Given the description of an element on the screen output the (x, y) to click on. 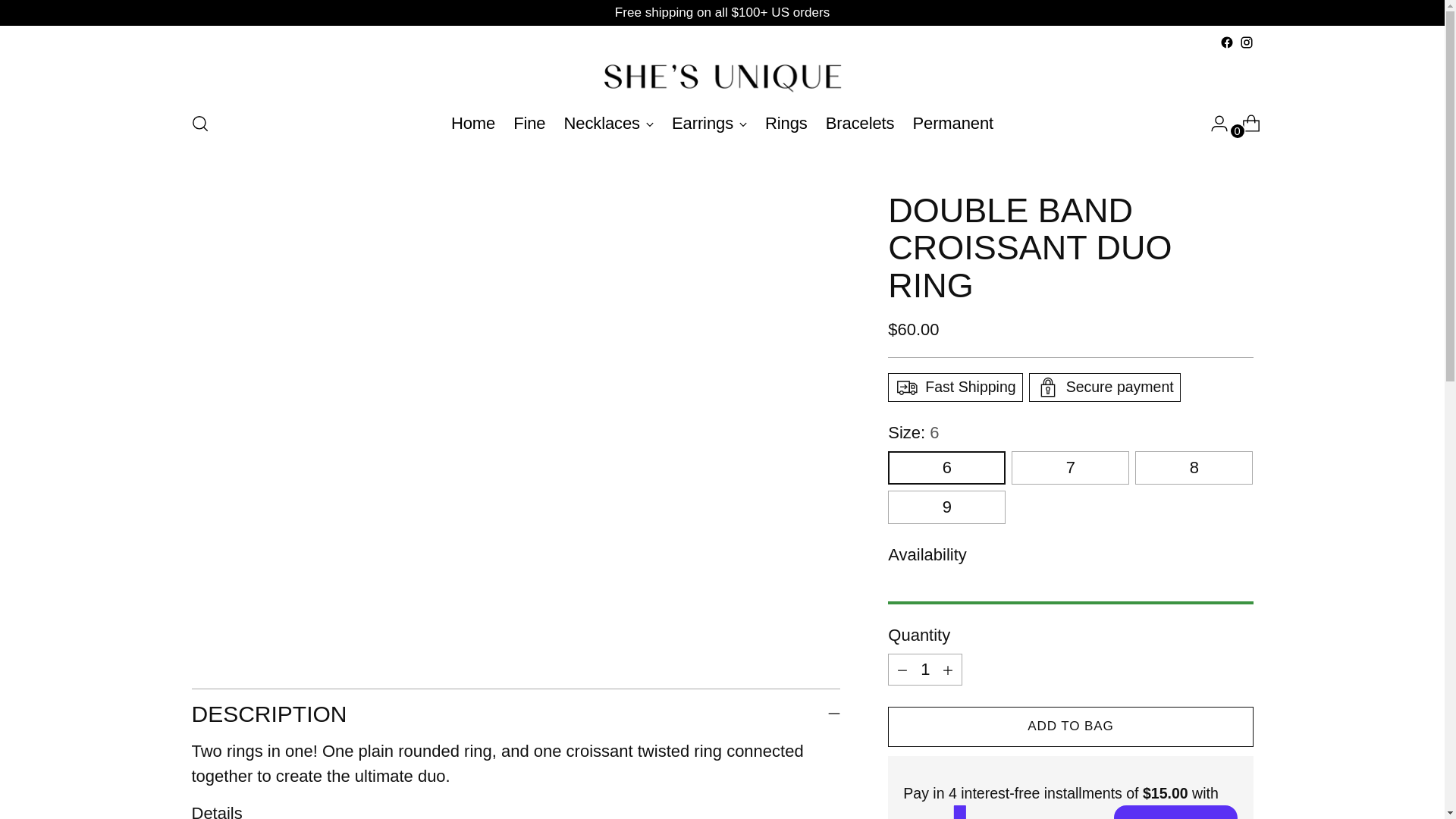
Earrings (708, 123)
She's Unique  on Instagram (1245, 42)
0 (721, 123)
Home (1245, 123)
Bracelets (473, 123)
Permanent (860, 123)
Necklaces (952, 123)
1 (608, 123)
Fine (925, 669)
